Given the description of an element on the screen output the (x, y) to click on. 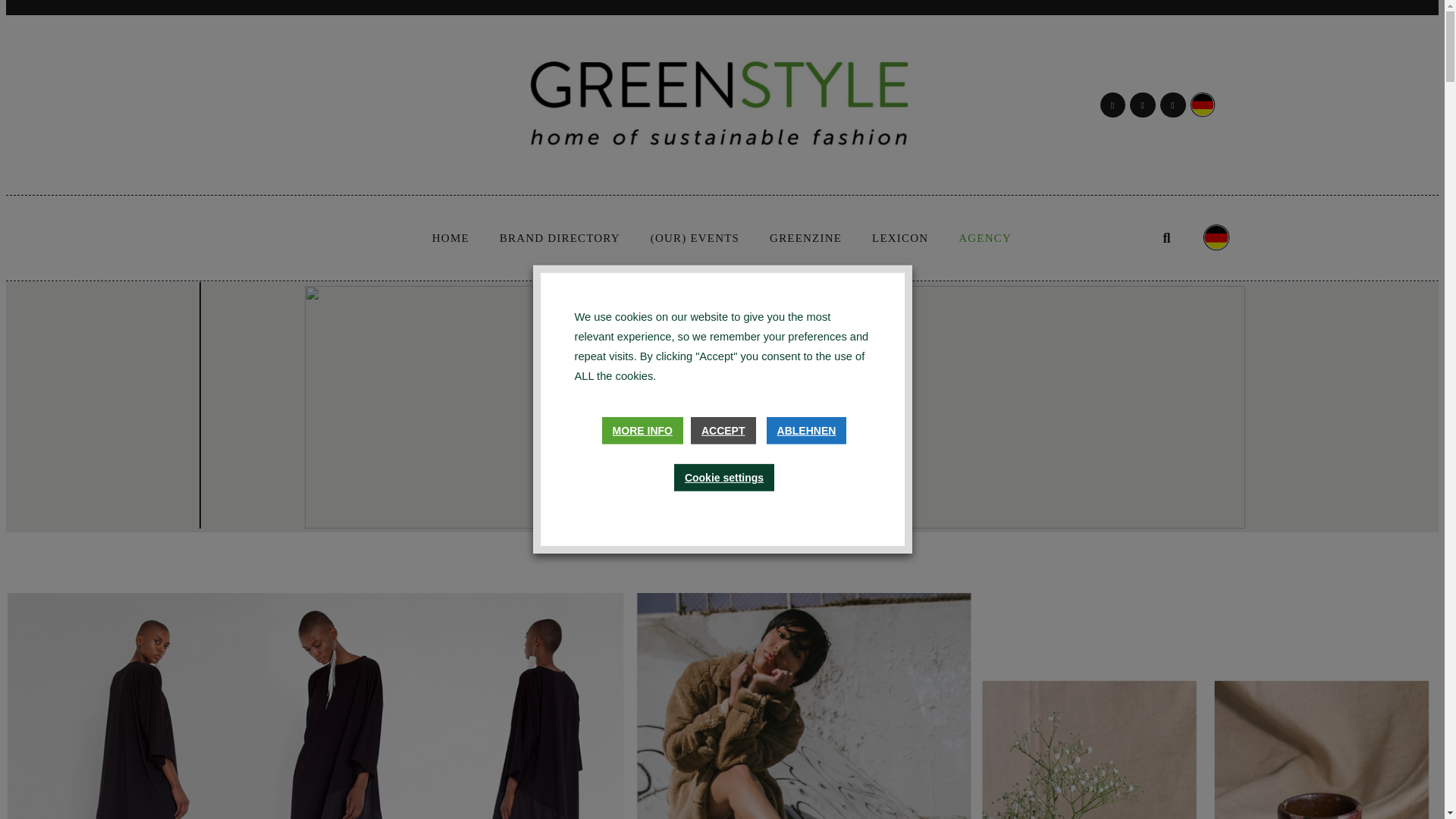
GREENZINE (805, 238)
BRAND DIRECTORY (559, 238)
AGENCY (984, 238)
LEXICON (900, 238)
HOME (450, 238)
